Given the description of an element on the screen output the (x, y) to click on. 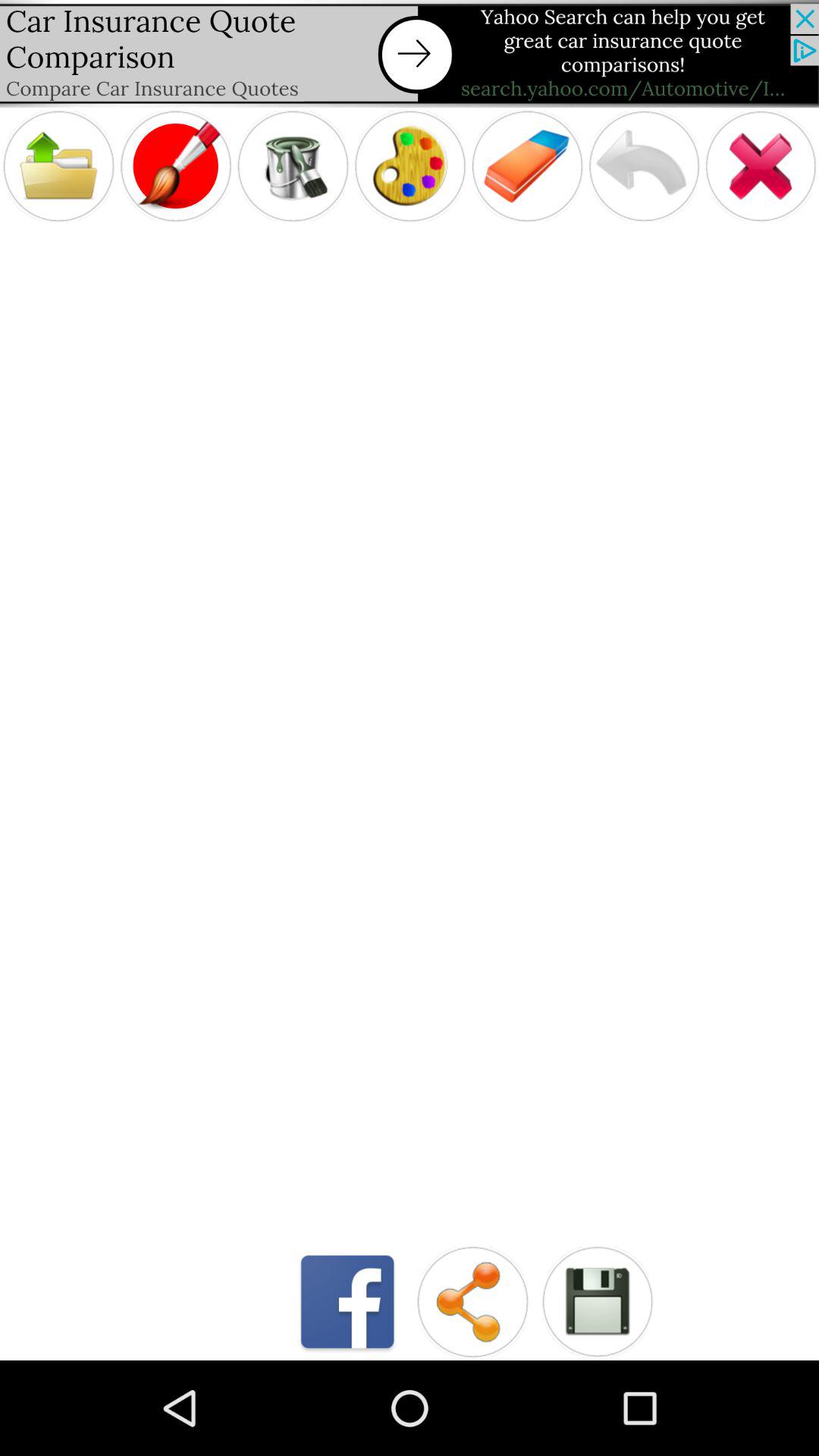
click on folder (58, 165)
